Given the description of an element on the screen output the (x, y) to click on. 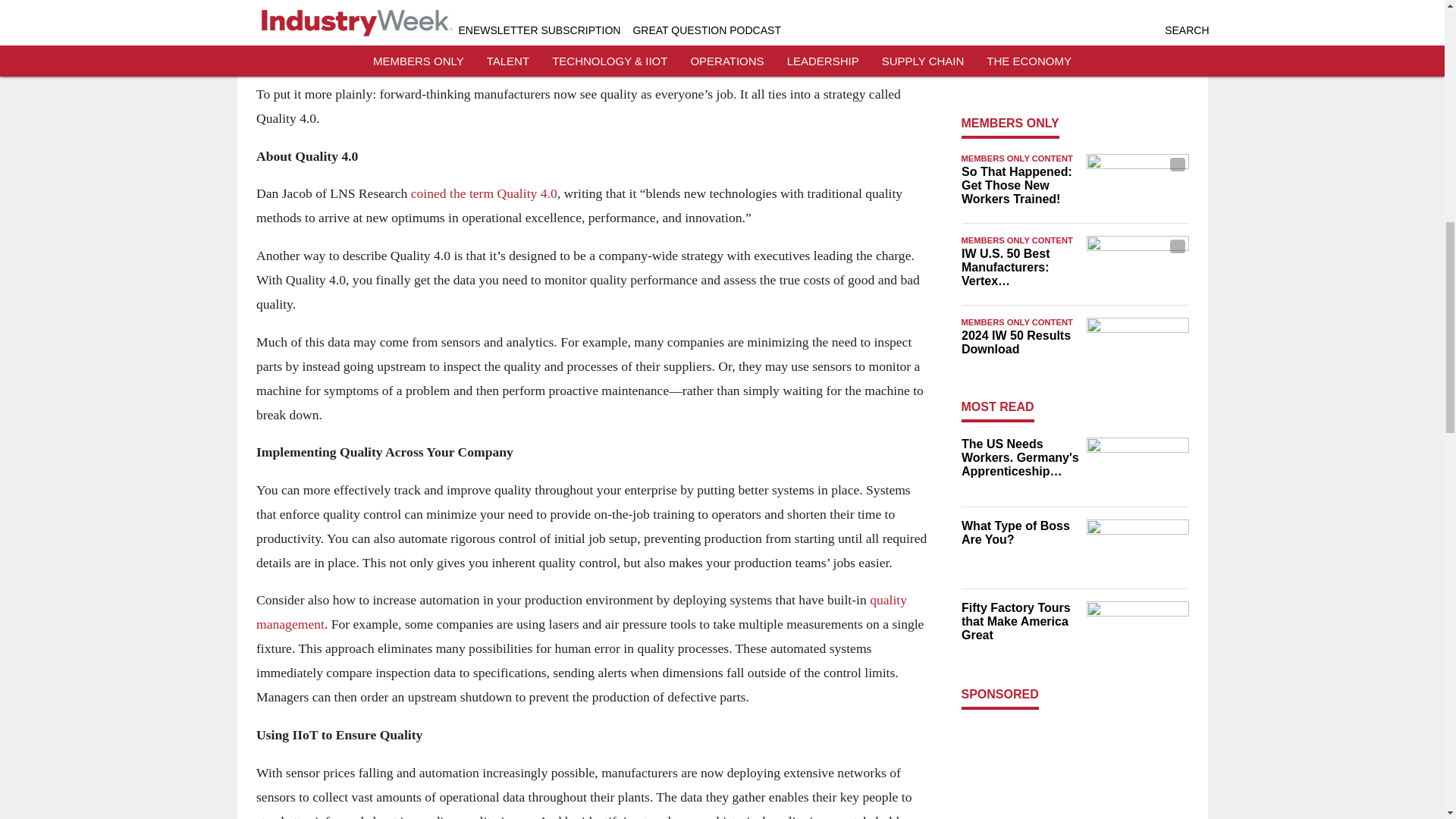
So That Happened: Get Those New Workers Trained! (1019, 185)
coined the term Quality 4.0 (483, 192)
MEMBERS ONLY (1009, 123)
quality management (581, 611)
